Given the description of an element on the screen output the (x, y) to click on. 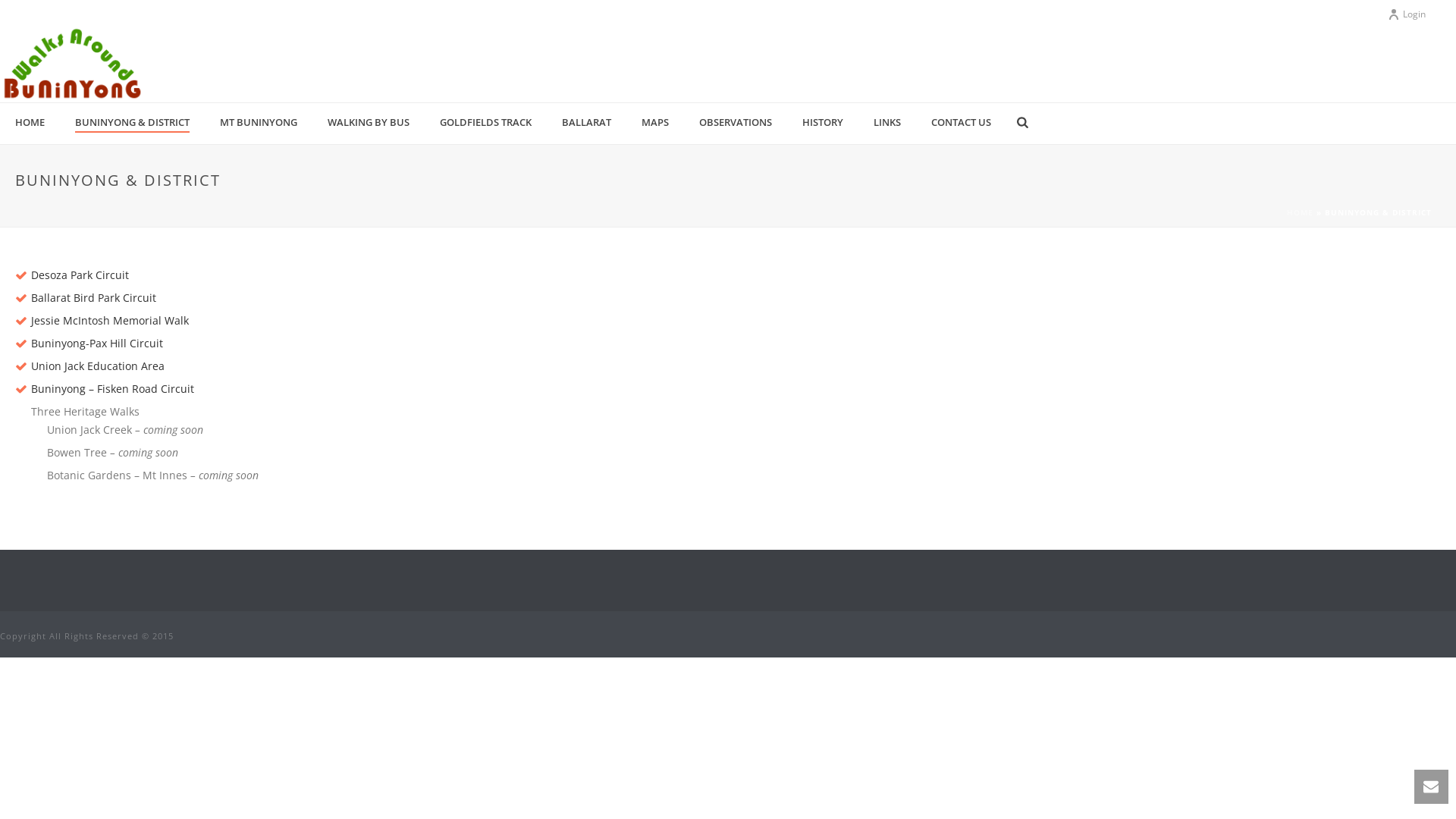
BALLARAT Element type: text (586, 123)
LINKS Element type: text (887, 123)
Desoza Park Circuit Element type: text (79, 274)
Buninyong Walks Element type: hover (72, 64)
Union Jack Education Area Element type: text (97, 365)
MAPS Element type: text (655, 123)
OBSERVATIONS Element type: text (735, 123)
BUNINYONG & DISTRICT Element type: text (131, 123)
MT BUNINYONG Element type: text (258, 123)
CONTACT US Element type: text (961, 123)
HOME Element type: text (29, 123)
Ballarat Bird Park Circuit Element type: text (93, 297)
WALKING BY BUS Element type: text (368, 123)
HISTORY Element type: text (822, 123)
HOME Element type: text (1299, 212)
Buninyong-Pax Hill Circuit Element type: text (97, 342)
Login Element type: text (1406, 13)
GOLDFIELDS TRACK Element type: text (485, 123)
Jessie McIntosh Memorial Walk Element type: text (109, 320)
